Given the description of an element on the screen output the (x, y) to click on. 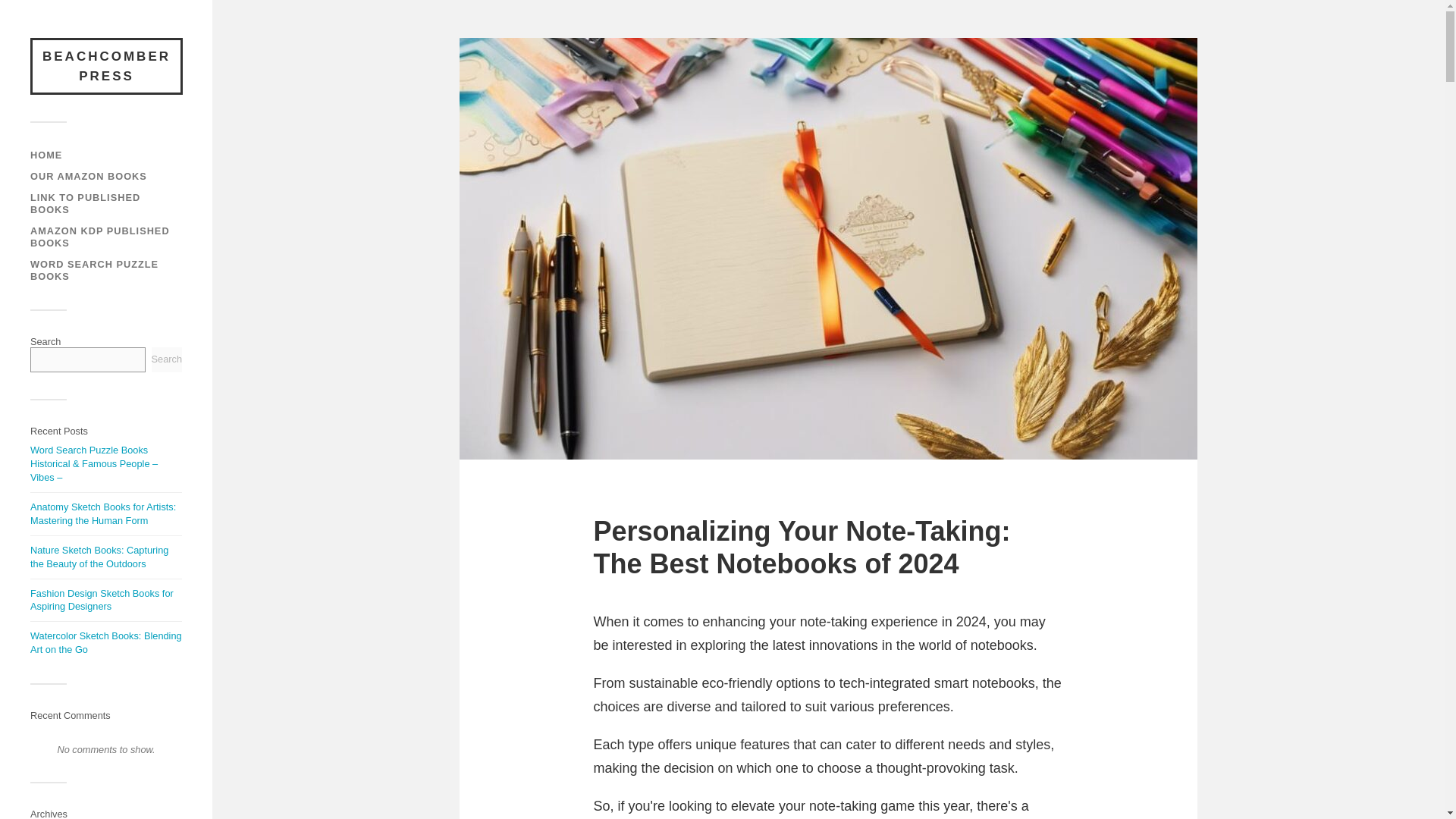
AMAZON KDP PUBLISHED BOOKS (100, 236)
OUR AMAZON BOOKS (88, 175)
Fashion Design Sketch Books for Aspiring Designers (101, 600)
HOME (46, 154)
BEACHCOMBER PRESS (106, 66)
Search (166, 359)
Anatomy Sketch Books for Artists: Mastering the Human Form (103, 513)
Nature Sketch Books: Capturing the Beauty of the Outdoors (99, 556)
Watercolor Sketch Books: Blending Art on the Go (106, 642)
WORD SEARCH PUZZLE BOOKS (94, 269)
LINK TO PUBLISHED BOOKS (84, 203)
